Given the description of an element on the screen output the (x, y) to click on. 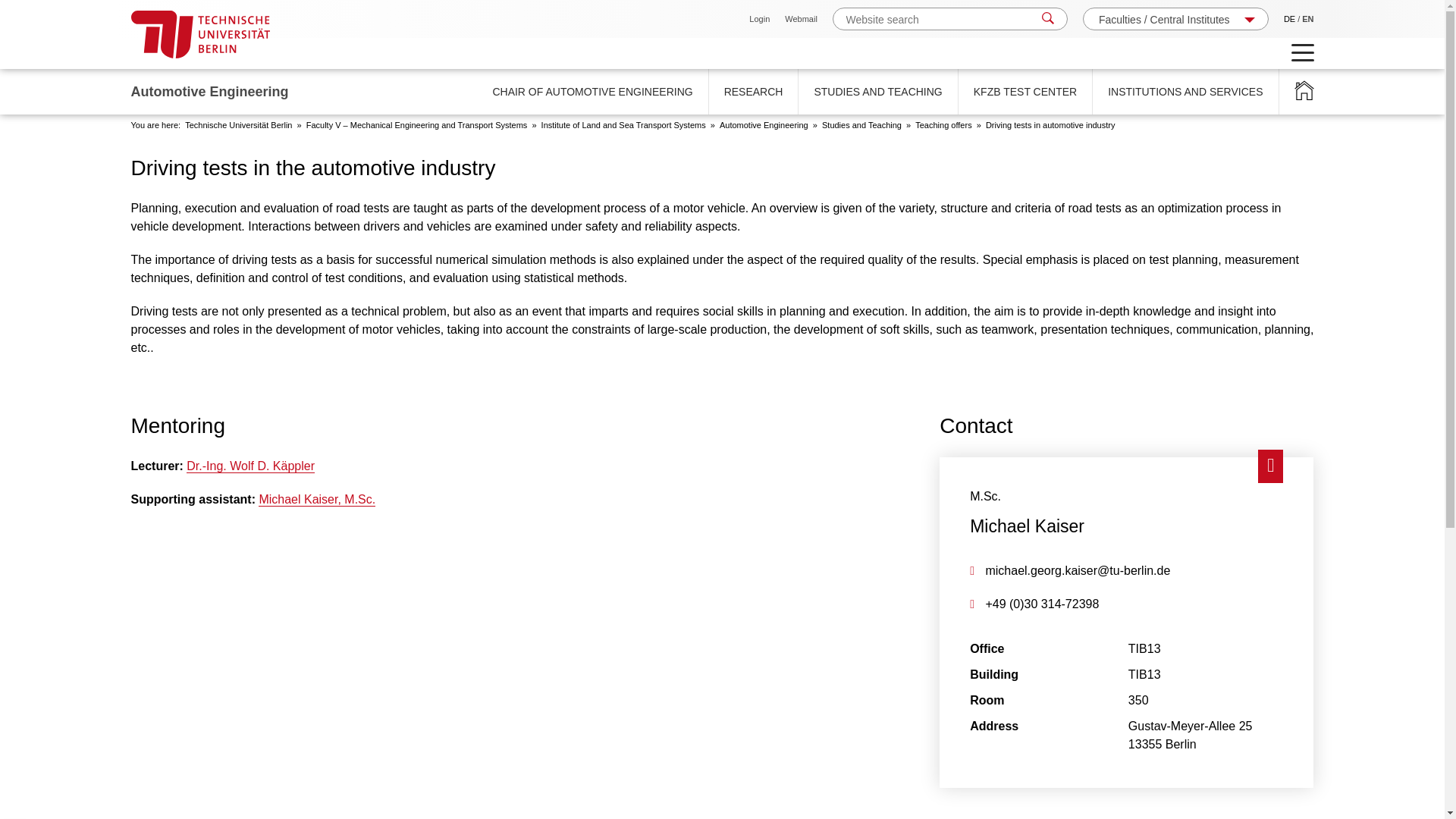
Automotive Engineering (1302, 91)
Webmail (800, 18)
Institute of Land and Sea Transport Systems (623, 124)
Automotive Engineering (763, 124)
Studies and Teaching (861, 124)
Deutsch (1289, 18)
Driving tests in automotive industry (1050, 124)
Teaching offers (943, 124)
TU Berlin (200, 34)
Login (759, 18)
